Given the description of an element on the screen output the (x, y) to click on. 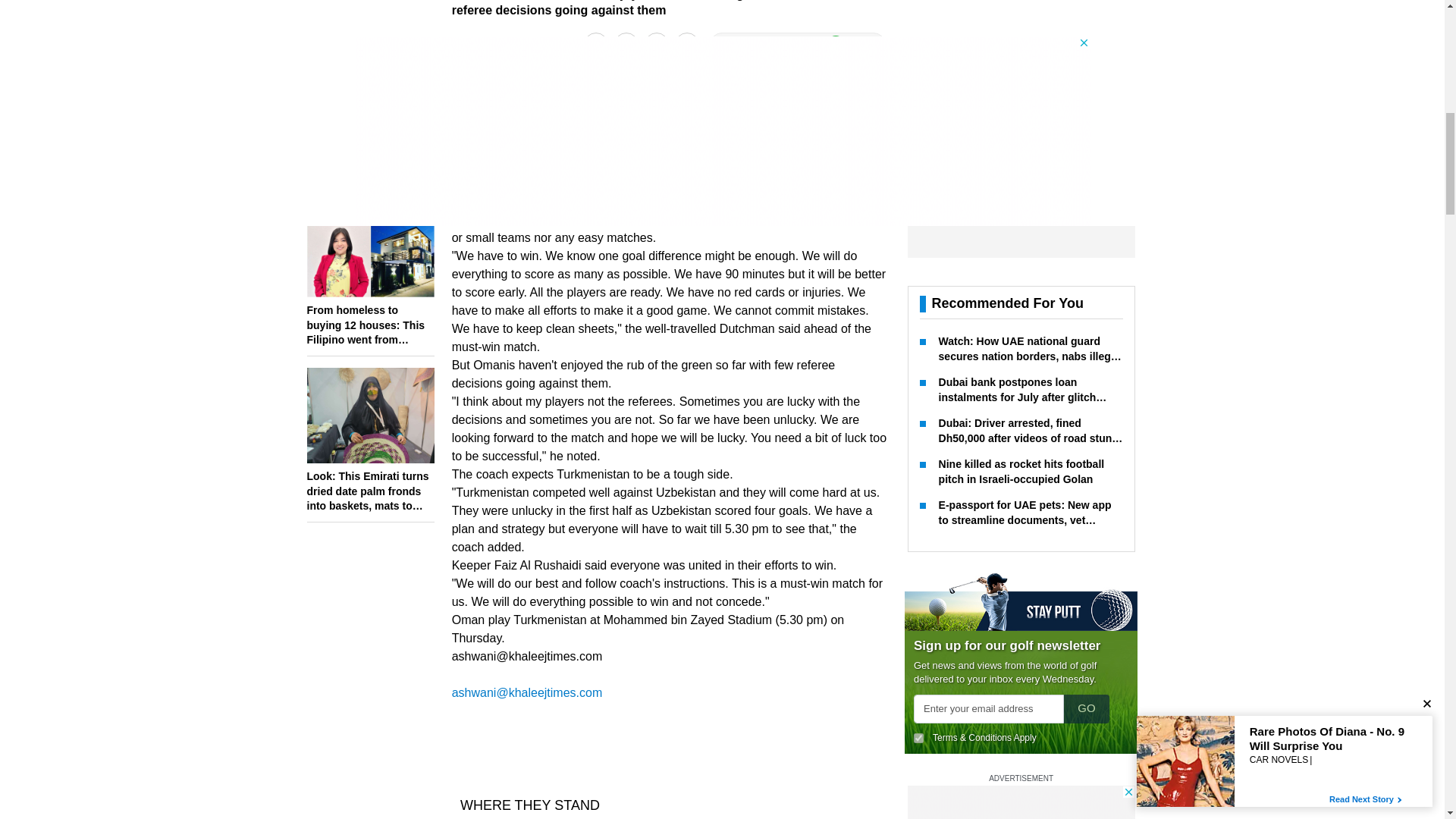
1 (918, 284)
